Given the description of an element on the screen output the (x, y) to click on. 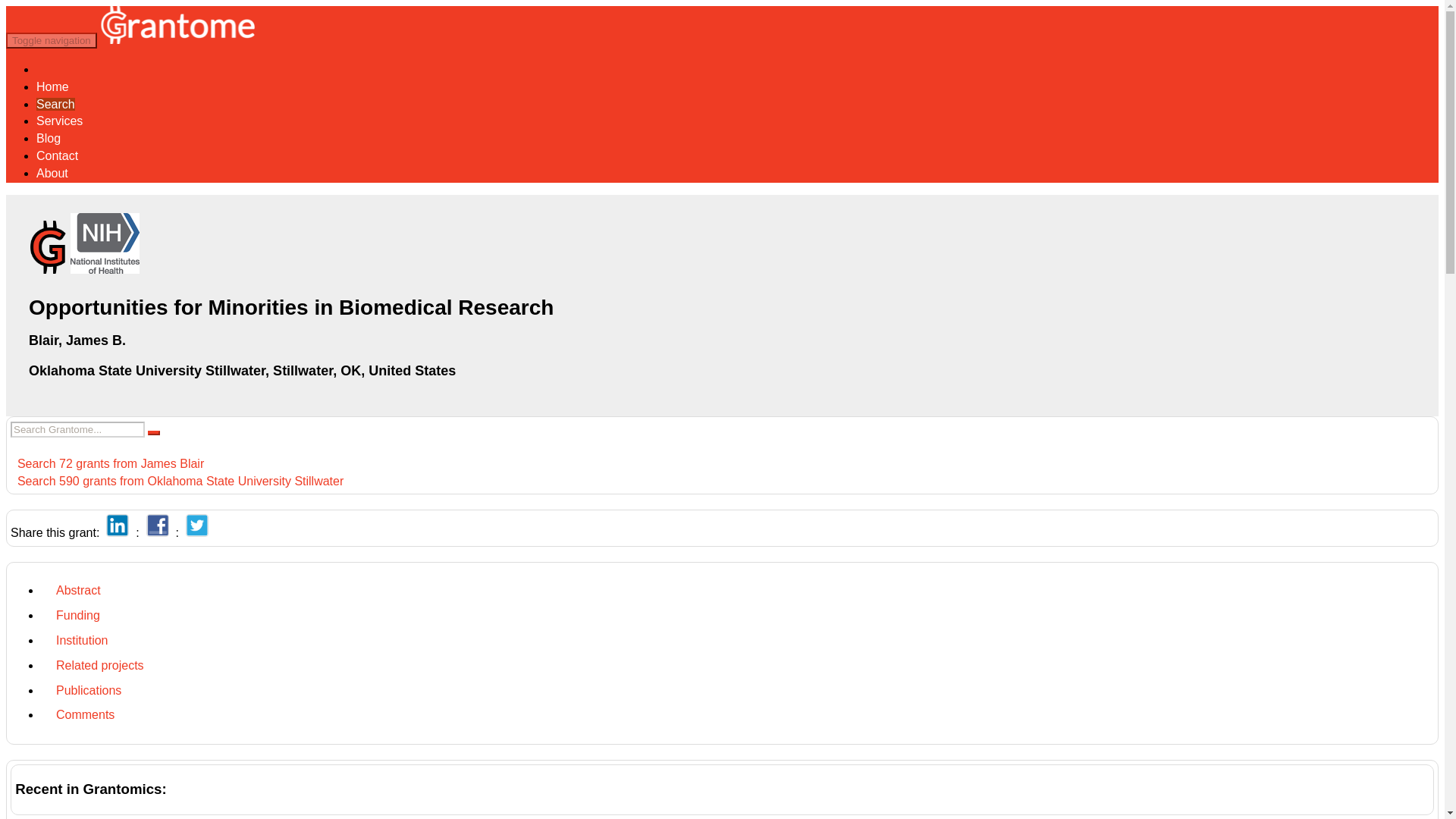
Services (59, 120)
Link to Oklahoma State University Stillwater website... (242, 370)
About (52, 173)
Blog (48, 137)
Toggle navigation (51, 40)
Search (55, 103)
  Search 72 grants from James Blair (106, 463)
Share on Twitter... (197, 532)
Home (52, 86)
